Given the description of an element on the screen output the (x, y) to click on. 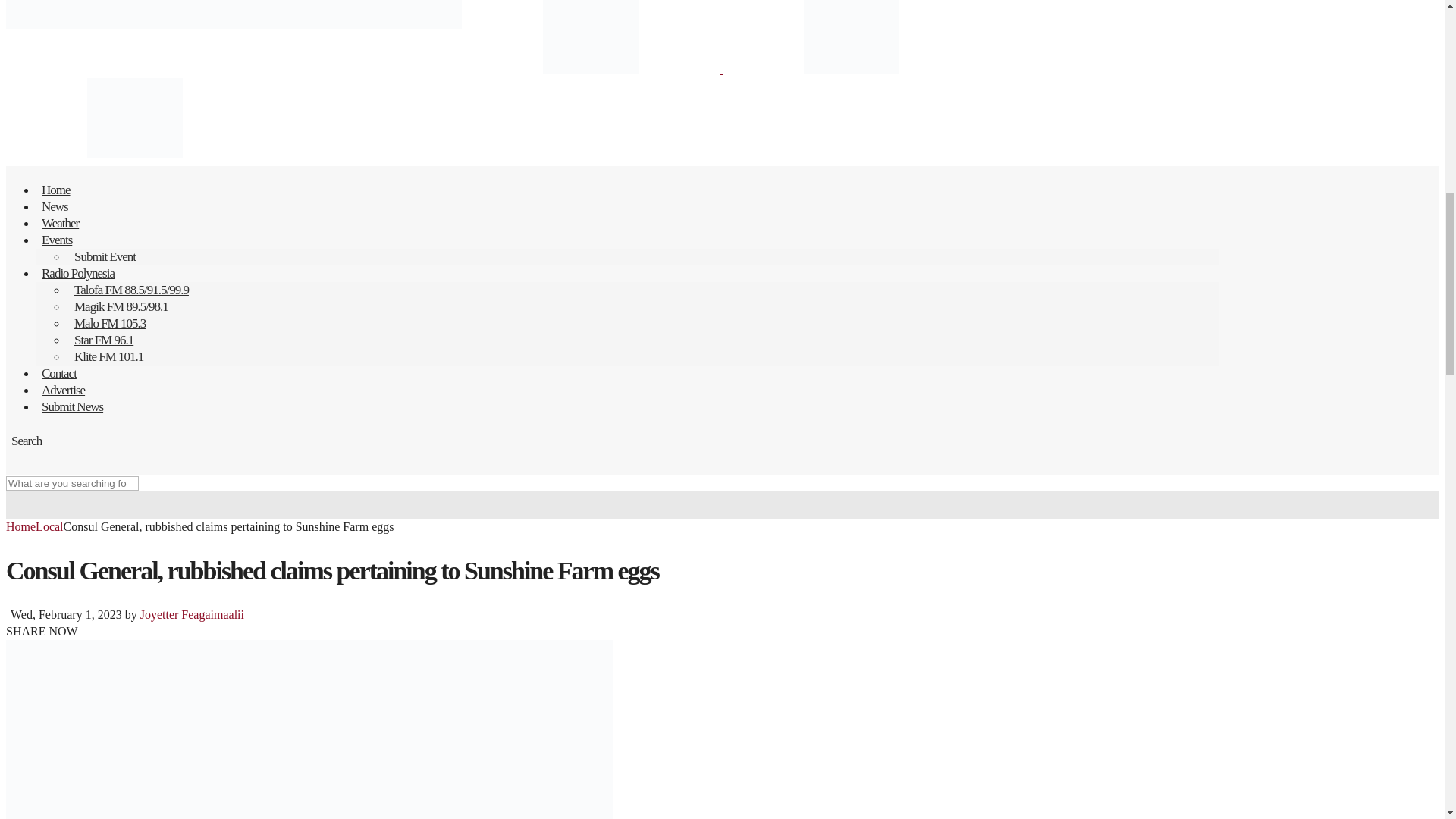
News (58, 206)
Star FM 96.1 (103, 339)
Search for: (71, 482)
Events (59, 239)
Radio Polynesia (80, 273)
Malo FM 105.3 (109, 323)
Home (58, 189)
Submit Event (104, 256)
Posts by Joyetter Feagaimaalii (191, 614)
Weather (63, 222)
